Given the description of an element on the screen output the (x, y) to click on. 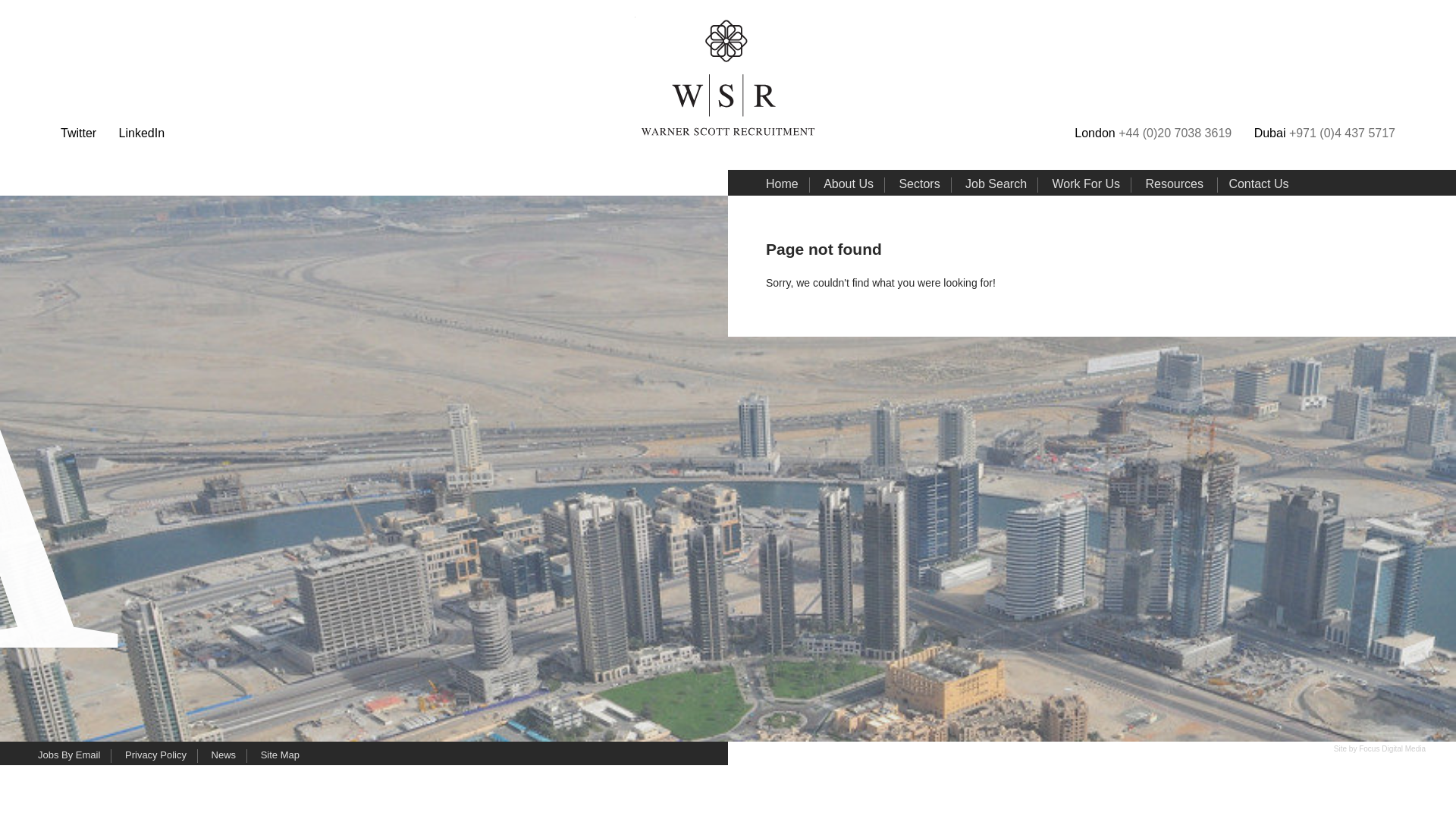
Work For Us (1085, 184)
Twitter (78, 132)
Contact Us (1258, 184)
Job Search (995, 184)
Site Map (279, 754)
News (223, 754)
LinkedIn (142, 132)
Jobs By Email (68, 754)
Privacy Policy (155, 754)
Home (781, 184)
Sectors (918, 184)
Resources (1173, 184)
About Us (848, 184)
